Given the description of an element on the screen output the (x, y) to click on. 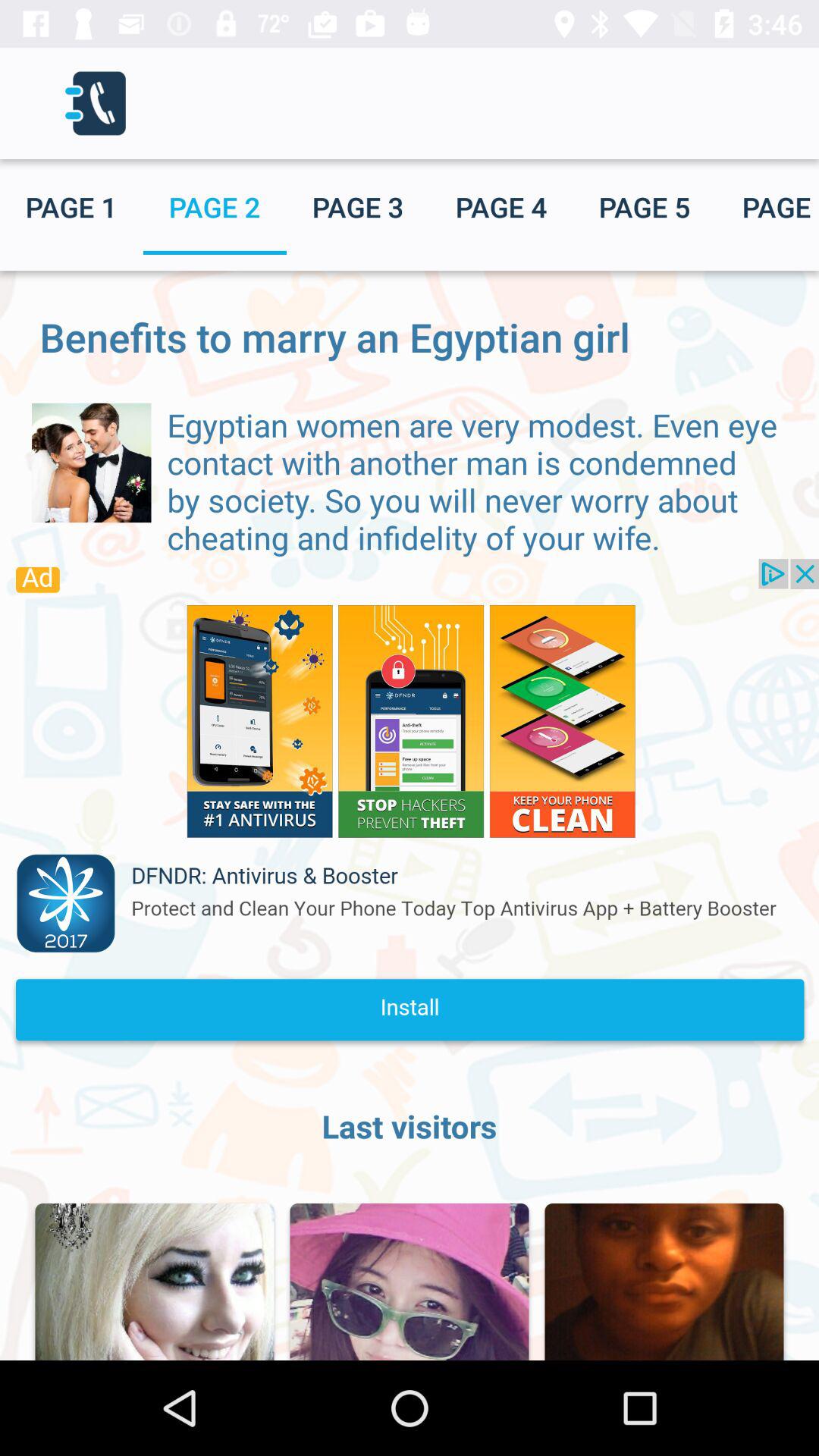
install dfndr (409, 807)
